Given the description of an element on the screen output the (x, y) to click on. 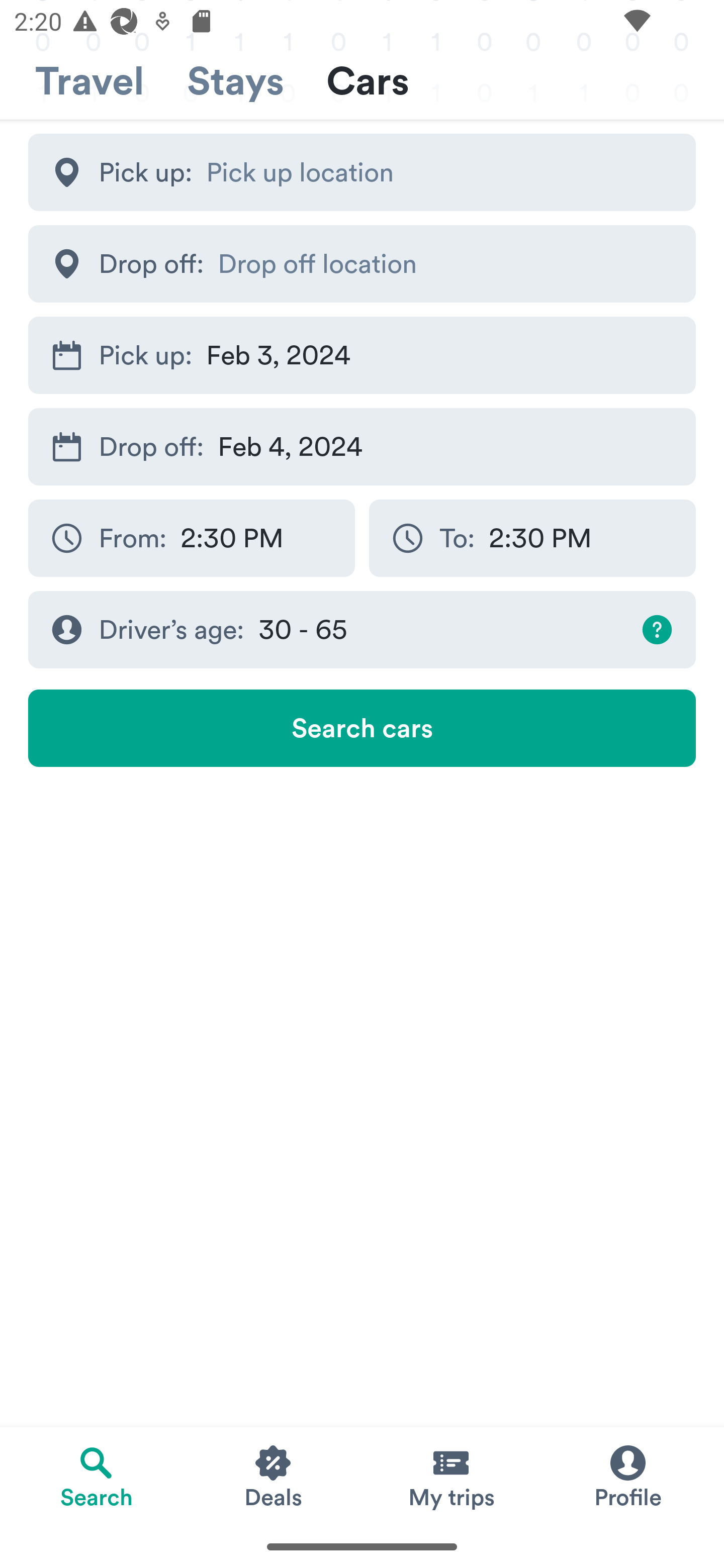
Travel (89, 81)
Stays (235, 81)
Cars (367, 81)
Pick up: (361, 172)
Drop off: (361, 263)
Pick up: Feb 3, 2024 (361, 355)
Drop off: Feb 4, 2024 (361, 446)
From: 2:30 PM (191, 537)
To: 2:30 PM (532, 537)
Driver’s age: 30 - 65 (361, 630)
Search cars (361, 727)
Deals (273, 1475)
My trips (450, 1475)
Profile (627, 1475)
